Given the description of an element on the screen output the (x, y) to click on. 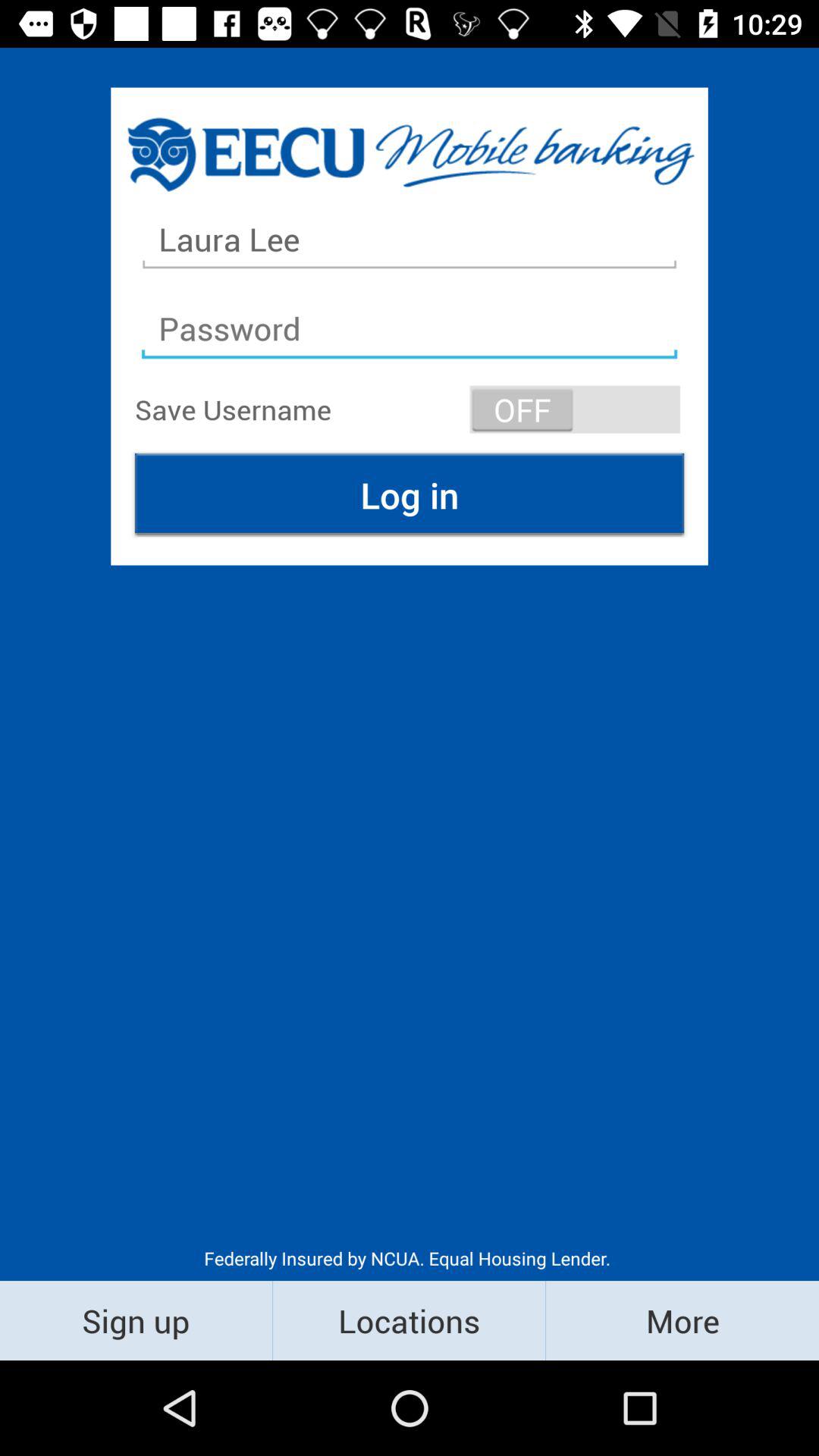
turn off the icon above federally insured by icon (409, 494)
